Given the description of an element on the screen output the (x, y) to click on. 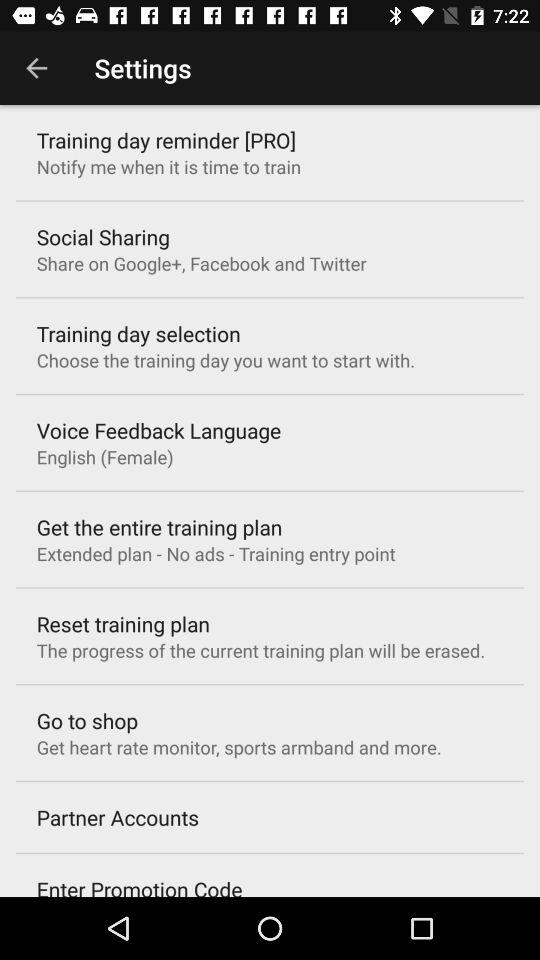
press the icon above the get the entire (104, 456)
